Given the description of an element on the screen output the (x, y) to click on. 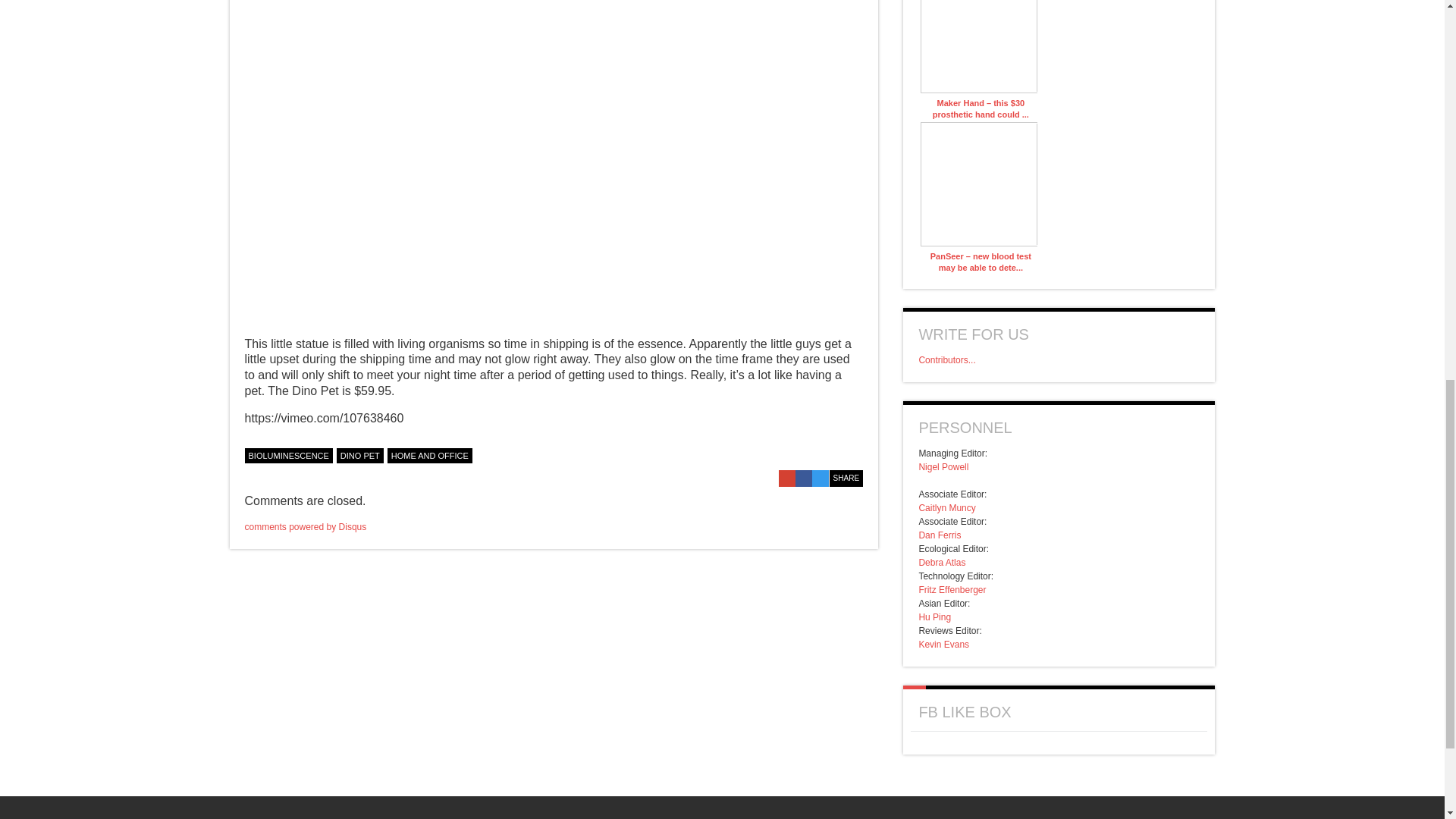
Debra Atlas (941, 562)
SHARE (846, 478)
I like this article (855, 452)
Dan Ferris (939, 534)
Caitlyn Muncy (946, 507)
Contributors... (946, 359)
BIOLUMINESCENCE (287, 455)
Nigel Powell (943, 466)
comments powered by Disqus (305, 526)
Fritz Effenberger (951, 589)
HOME AND OFFICE (429, 455)
DINO PET (360, 455)
